Given the description of an element on the screen output the (x, y) to click on. 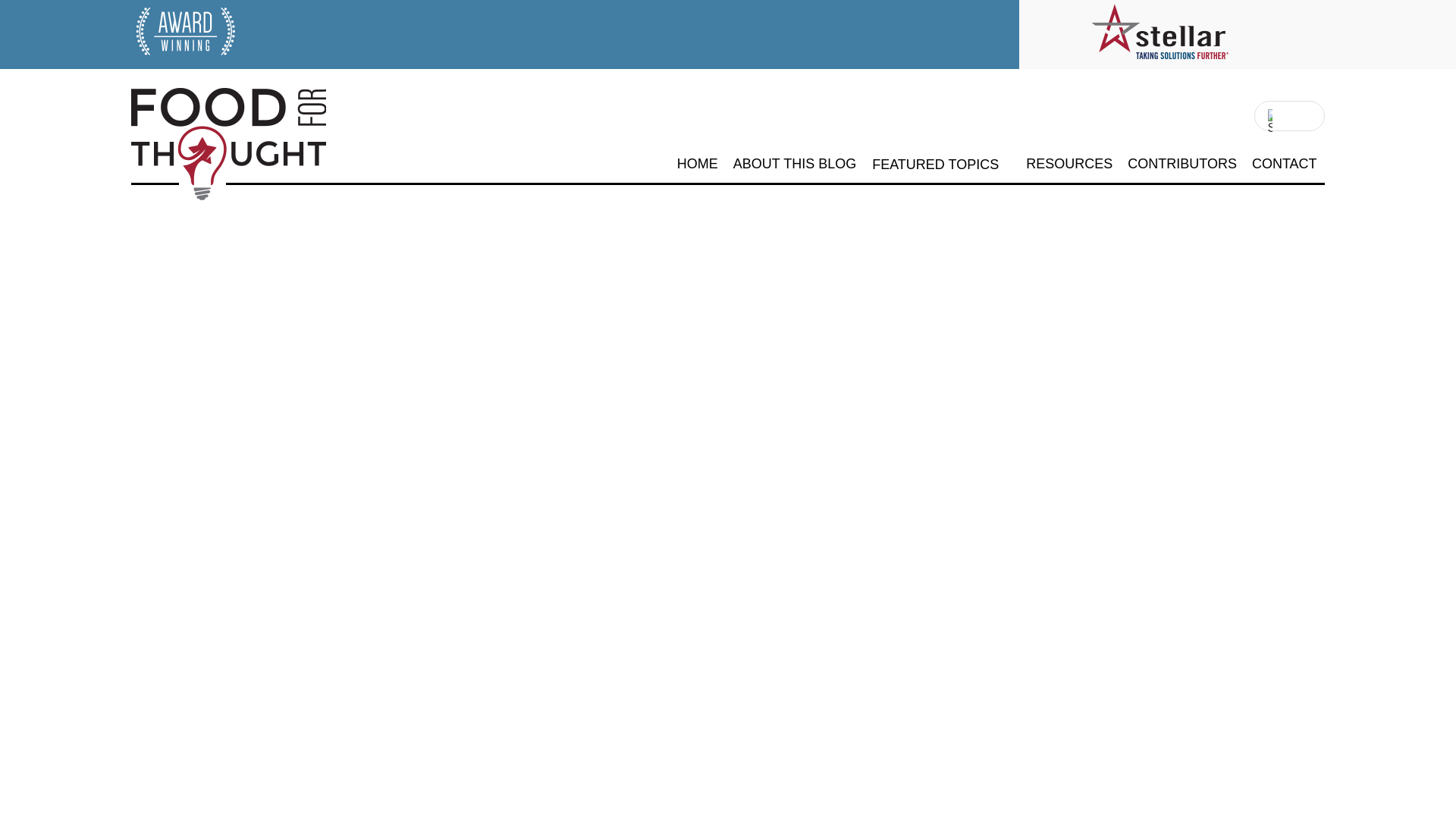
FEATURED TOPICS (935, 164)
ABOUT THIS BLOG (794, 163)
CONTRIBUTORS (1181, 163)
HOME (697, 163)
CONTACT (1284, 163)
Stellar Food for Thought (200, 205)
RESOURCES (1069, 163)
